Given the description of an element on the screen output the (x, y) to click on. 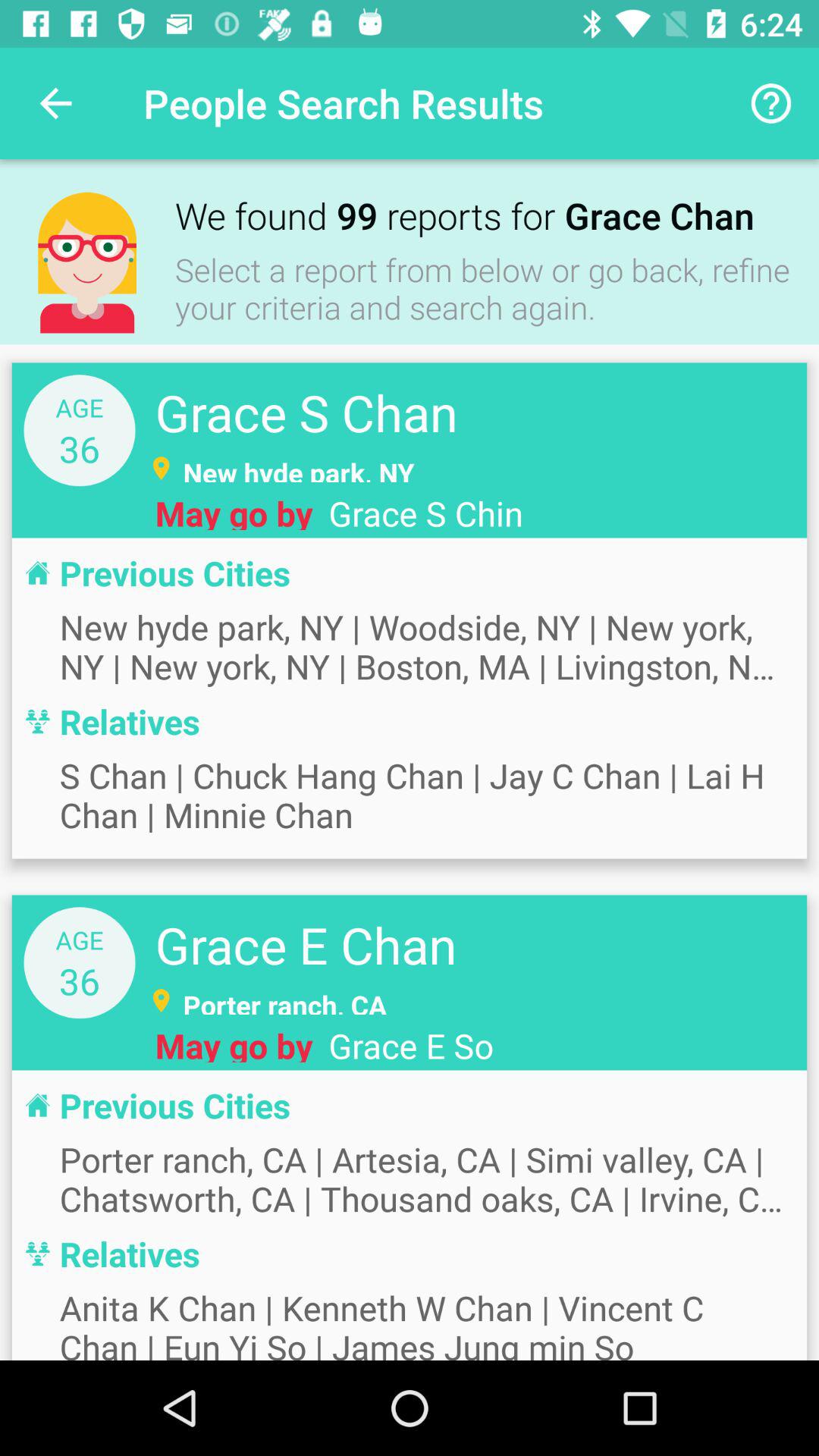
open item to the right of the people search results (771, 103)
